Given the description of an element on the screen output the (x, y) to click on. 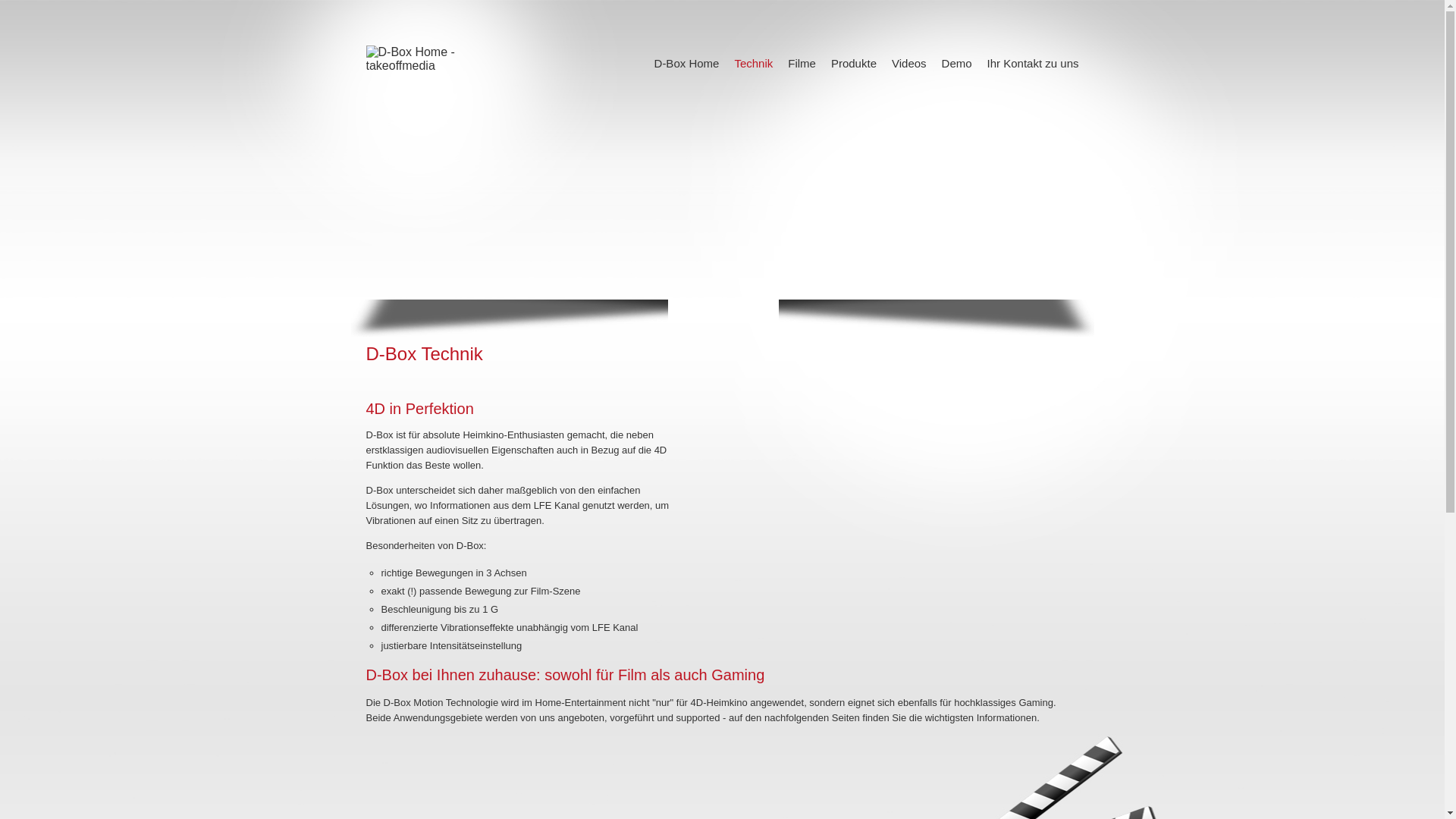
Videos Element type: text (909, 65)
D-Box Home Element type: text (686, 65)
Produkte Element type: text (853, 65)
Demo Element type: text (956, 65)
D-Box Home - takeoffmedia Element type: hover (413, 58)
Ihr Kontakt zu uns Element type: text (1032, 65)
Technik Element type: text (753, 65)
Filme Element type: text (801, 65)
